Given the description of an element on the screen output the (x, y) to click on. 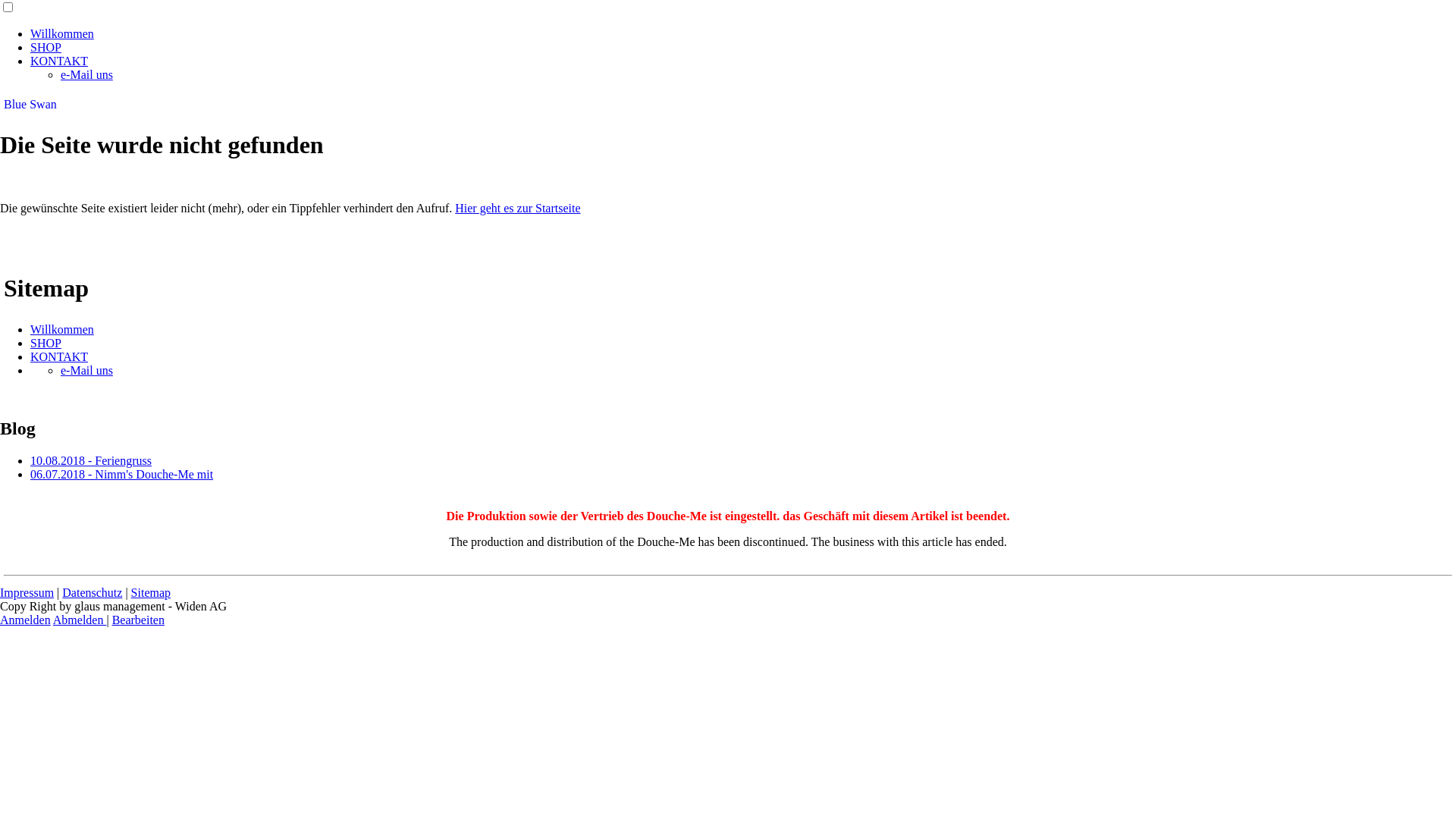
Abmelden Element type: text (79, 619)
06.07.2018 - Nimm's Douche-Me mit Element type: text (121, 473)
Anmelden Element type: text (25, 619)
SHOP Element type: text (45, 342)
Impressum Element type: text (26, 592)
Willkommen Element type: text (62, 33)
Willkommen Element type: text (62, 329)
10.08.2018 - Feriengruss Element type: text (90, 460)
e-Mail uns Element type: text (86, 74)
Datenschutz Element type: text (92, 592)
Bearbeiten Element type: text (138, 619)
e-Mail uns Element type: text (86, 370)
KONTAKT Element type: text (58, 60)
Sitemap Element type: text (150, 592)
Blue Swan Element type: text (29, 103)
SHOP Element type: text (45, 46)
KONTAKT Element type: text (58, 356)
Hier geht es zur Startseite Element type: text (517, 207)
